Given the description of an element on the screen output the (x, y) to click on. 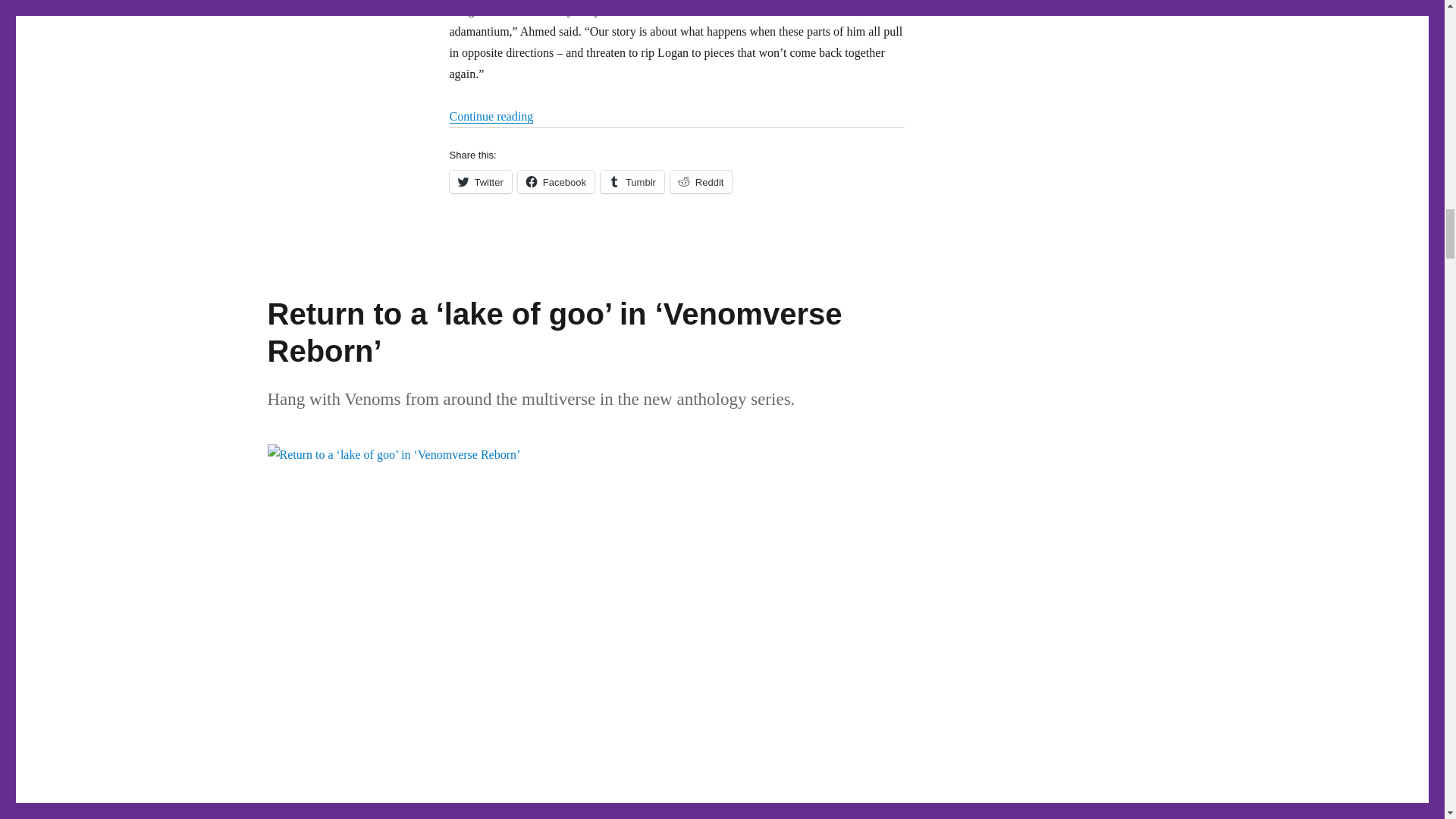
Click to share on Twitter (479, 181)
Click to share on Facebook (556, 181)
Click to share on Tumblr (631, 181)
Click to share on Reddit (700, 181)
